Given the description of an element on the screen output the (x, y) to click on. 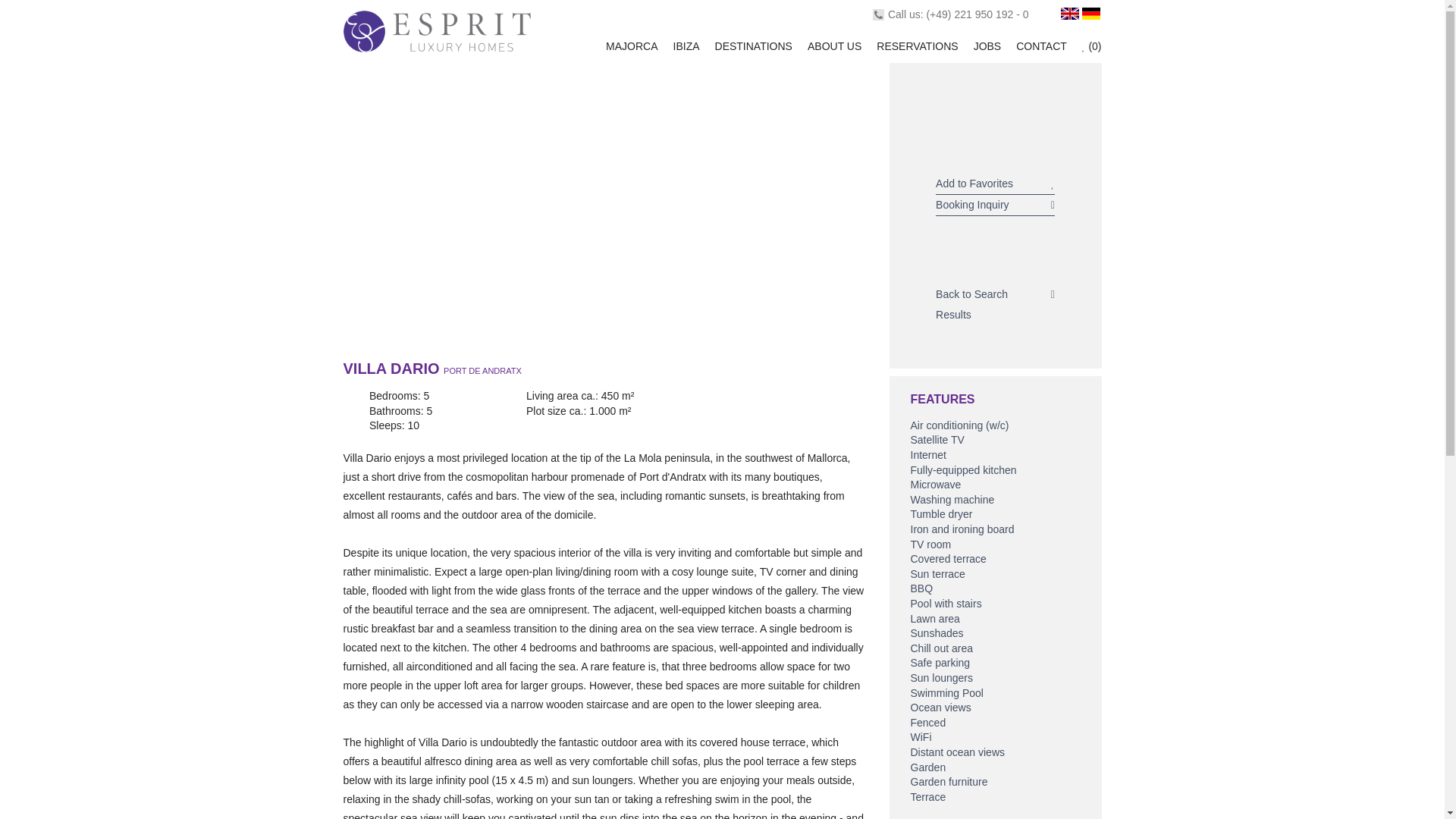
German (1090, 13)
Ibiza (686, 46)
RESERVATIONS (917, 46)
MAJORCA (631, 46)
ABOUT US (834, 46)
Majorca (631, 46)
Opens external link in new window (976, 14)
DESTINATIONS (753, 46)
English (1068, 13)
JOBS (987, 46)
